Given the description of an element on the screen output the (x, y) to click on. 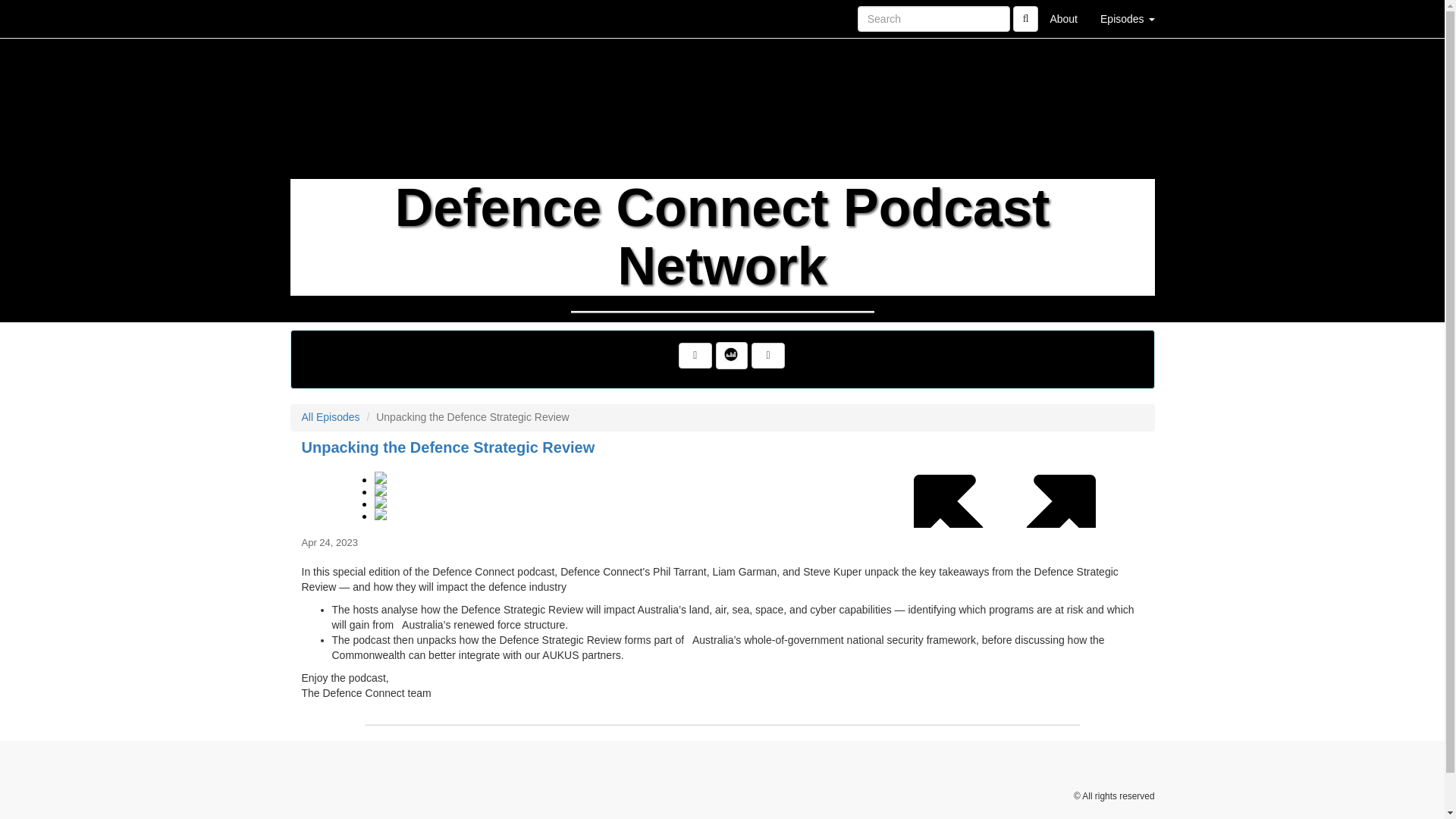
Episodes (1127, 18)
Home Page (320, 18)
About (1063, 18)
Unpacking the Defence Strategic Review (721, 493)
